Given the description of an element on the screen output the (x, y) to click on. 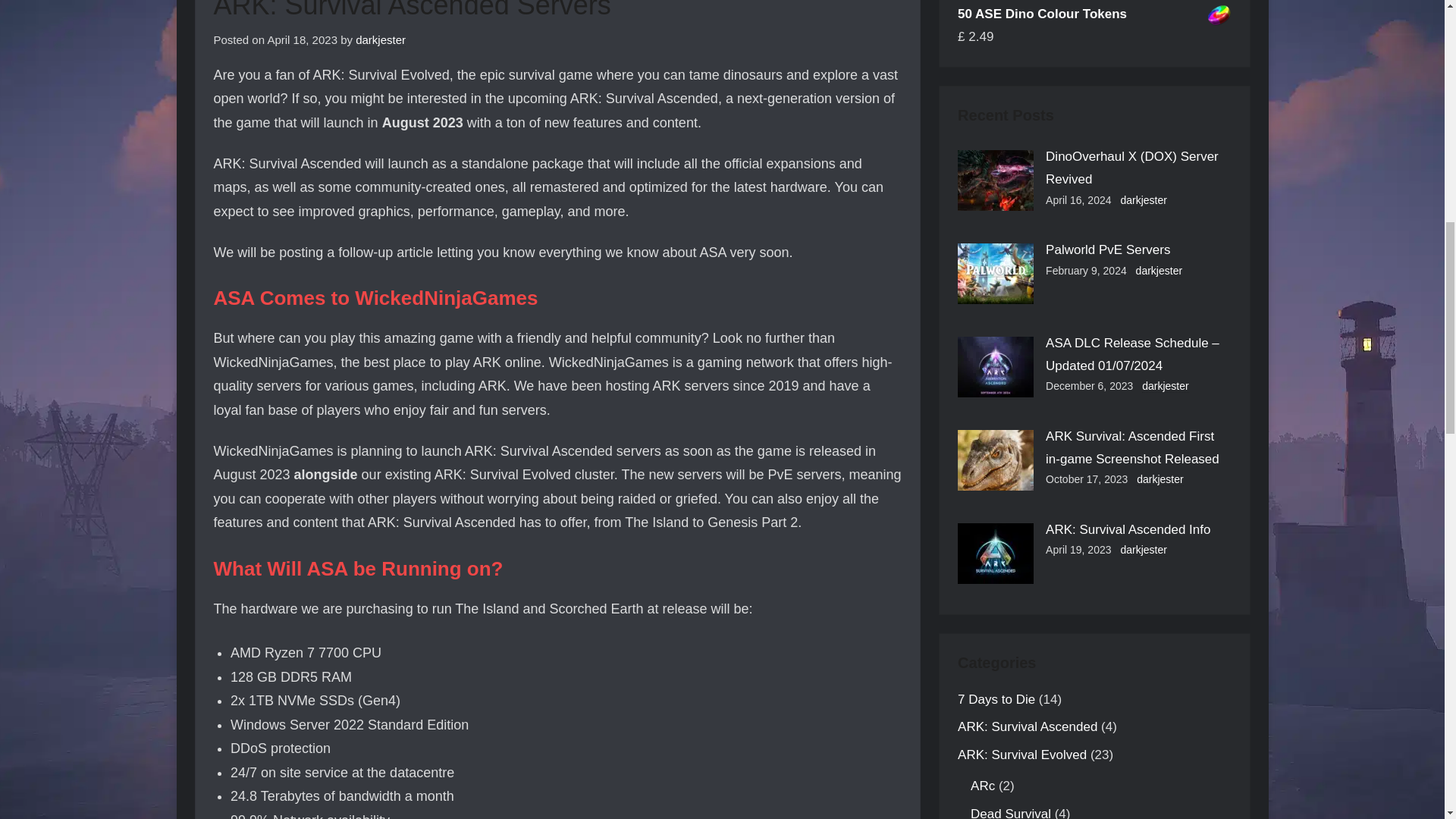
View all posts by darkjester (380, 39)
View all posts by darkjester (1159, 479)
View all posts by darkjester (1142, 200)
View all posts by darkjester (1158, 270)
ARK Survival: Ascended First in-game Screenshot Released (1132, 447)
View all posts by darkjester (1164, 386)
Palworld PvE Servers (1107, 249)
